Given the description of an element on the screen output the (x, y) to click on. 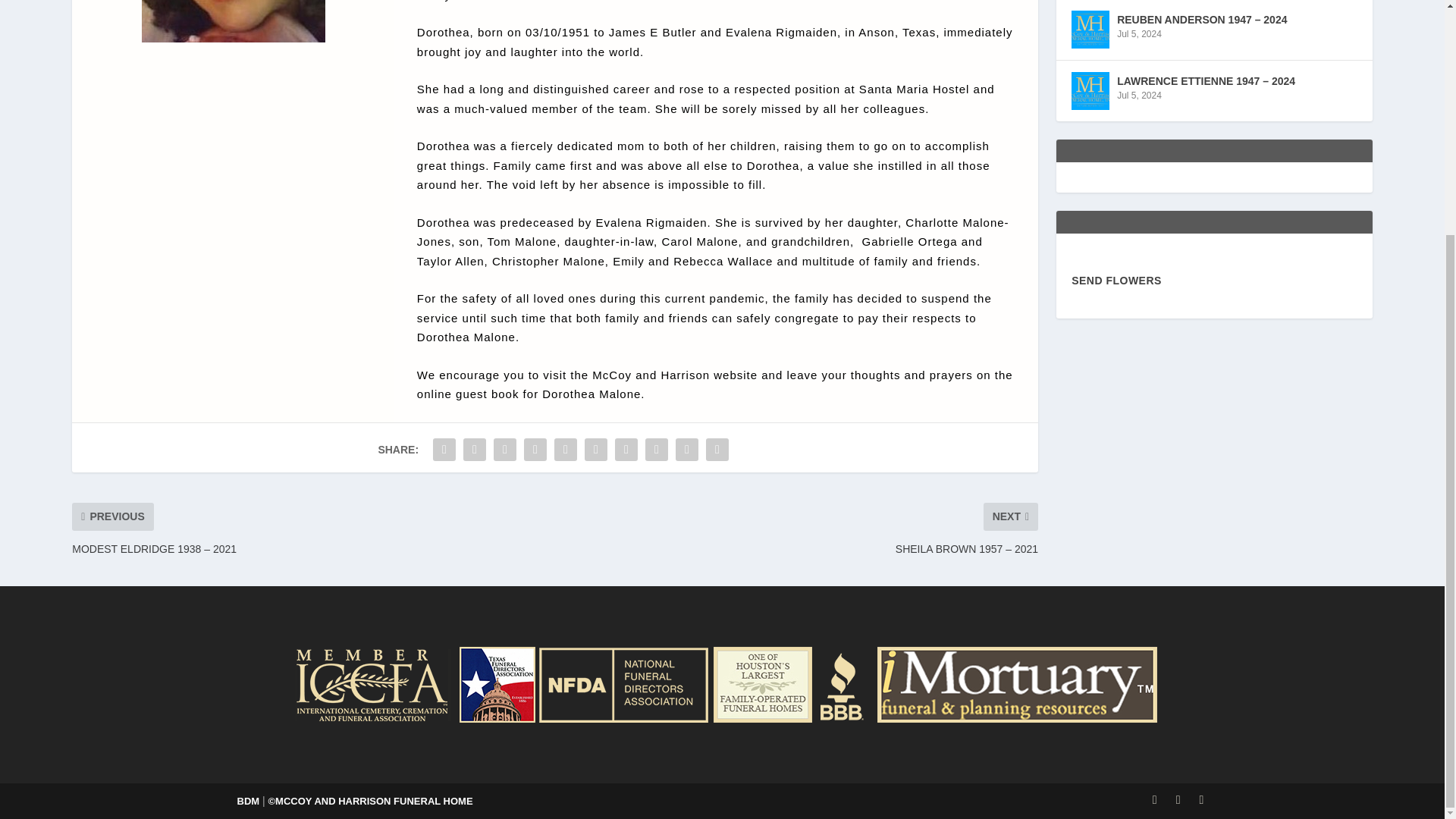
Dorothea Malone (232, 21)
